Given the description of an element on the screen output the (x, y) to click on. 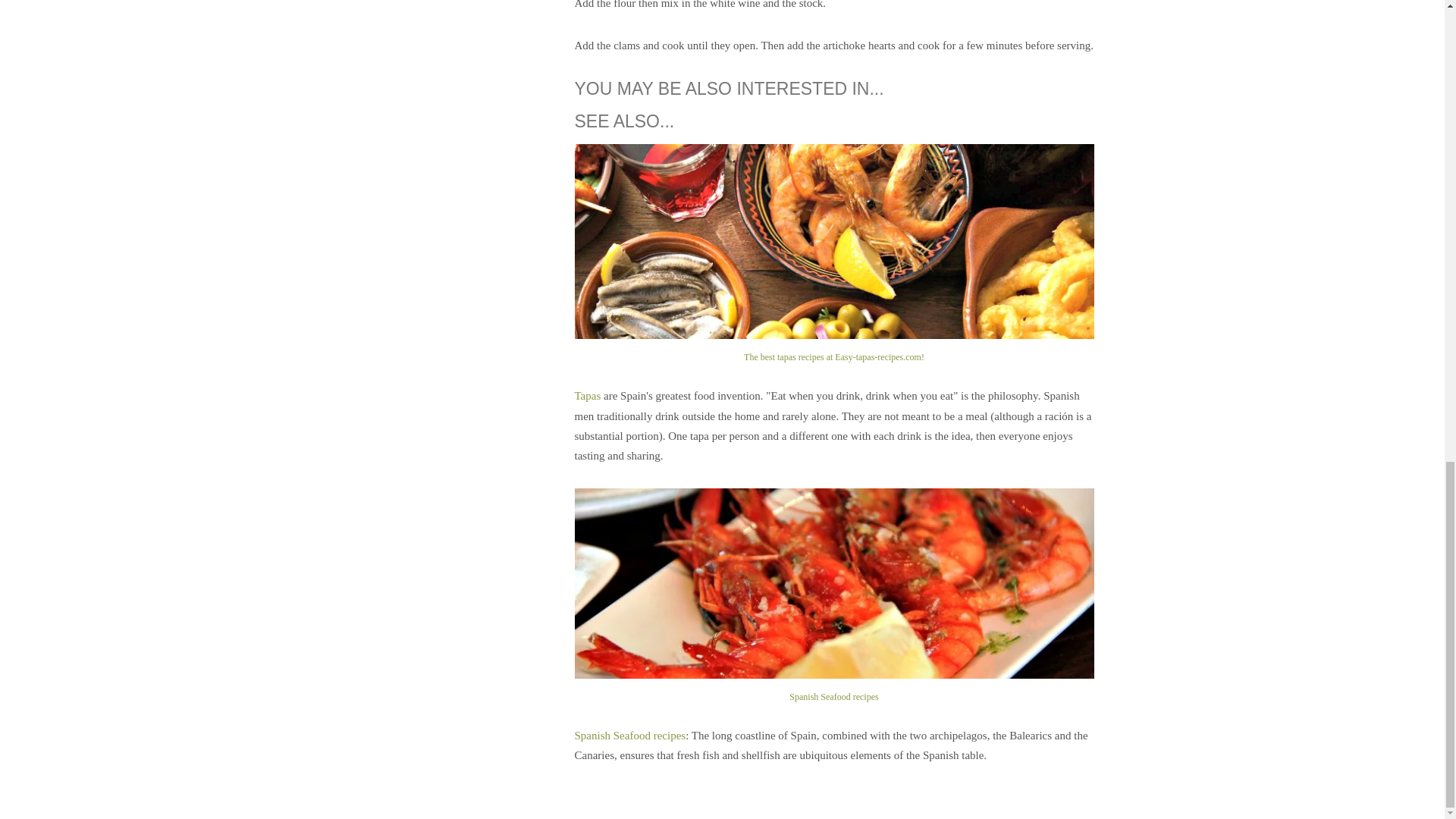
Spanish Seafood recipes (630, 735)
Go to Spanish Seafood Recipes (834, 687)
Spanish Seafood recipes (834, 687)
The best tapas recipes at Easy-tapas-recipes.com! (834, 347)
Tapas (588, 395)
